Given the description of an element on the screen output the (x, y) to click on. 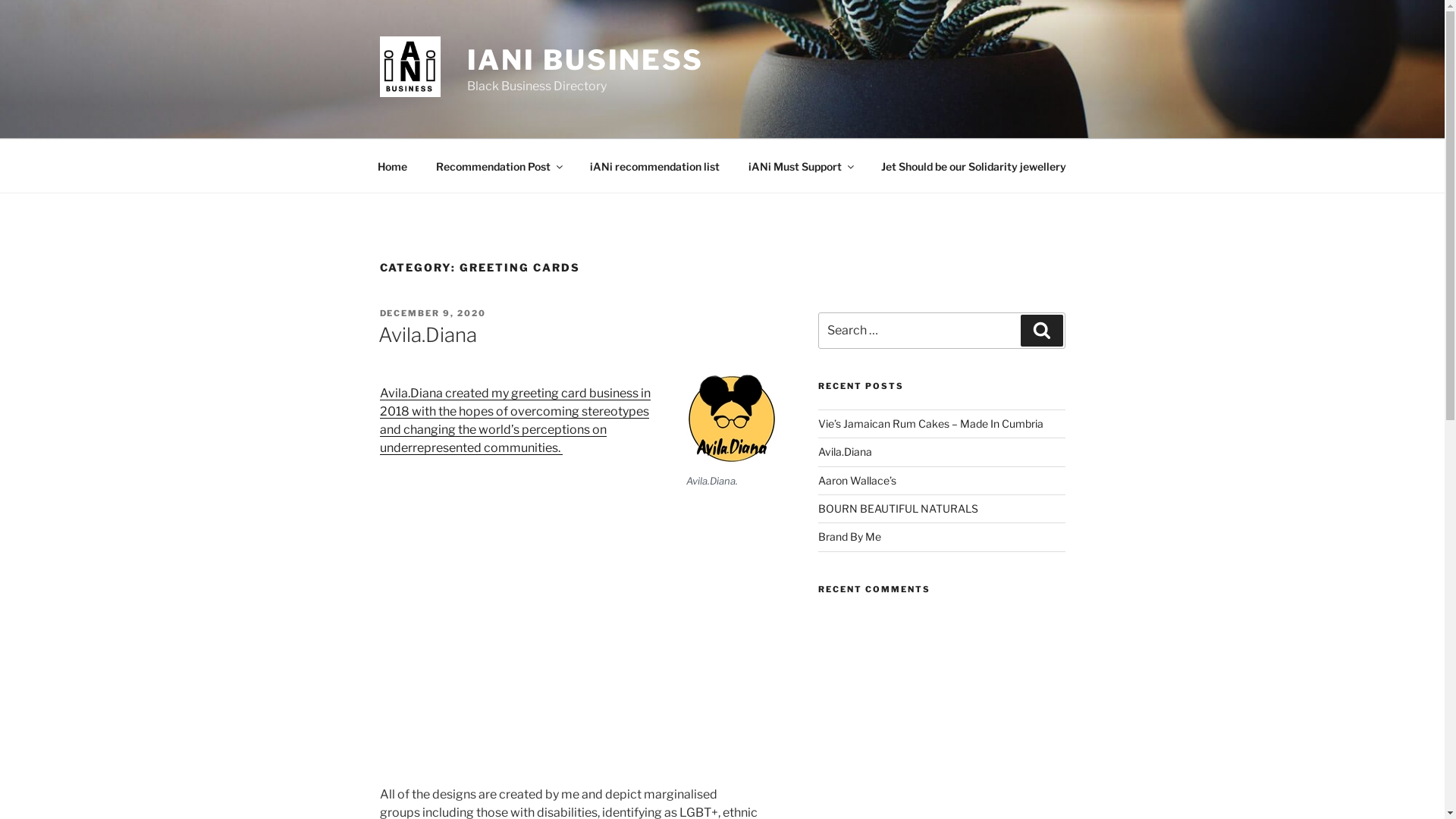
Jet Should be our Solidarity jewellery Element type: text (973, 165)
Brand By Me Element type: text (849, 536)
iANi Must Support Element type: text (800, 165)
DECEMBER 9, 2020 Element type: text (432, 312)
Search Element type: text (1041, 330)
Avila.Diana Element type: text (845, 451)
Avila.Diana Element type: text (426, 334)
iANi recommendation list Element type: text (654, 165)
Skip to content Element type: text (0, 0)
Home Element type: text (392, 165)
Summer Enternship Element type: hover (577, 624)
Recommendation Post Element type: text (498, 165)
IANI BUSINESS Element type: text (585, 59)
BOURN BEAUTIFUL NATURALS Element type: text (898, 508)
